Given the description of an element on the screen output the (x, y) to click on. 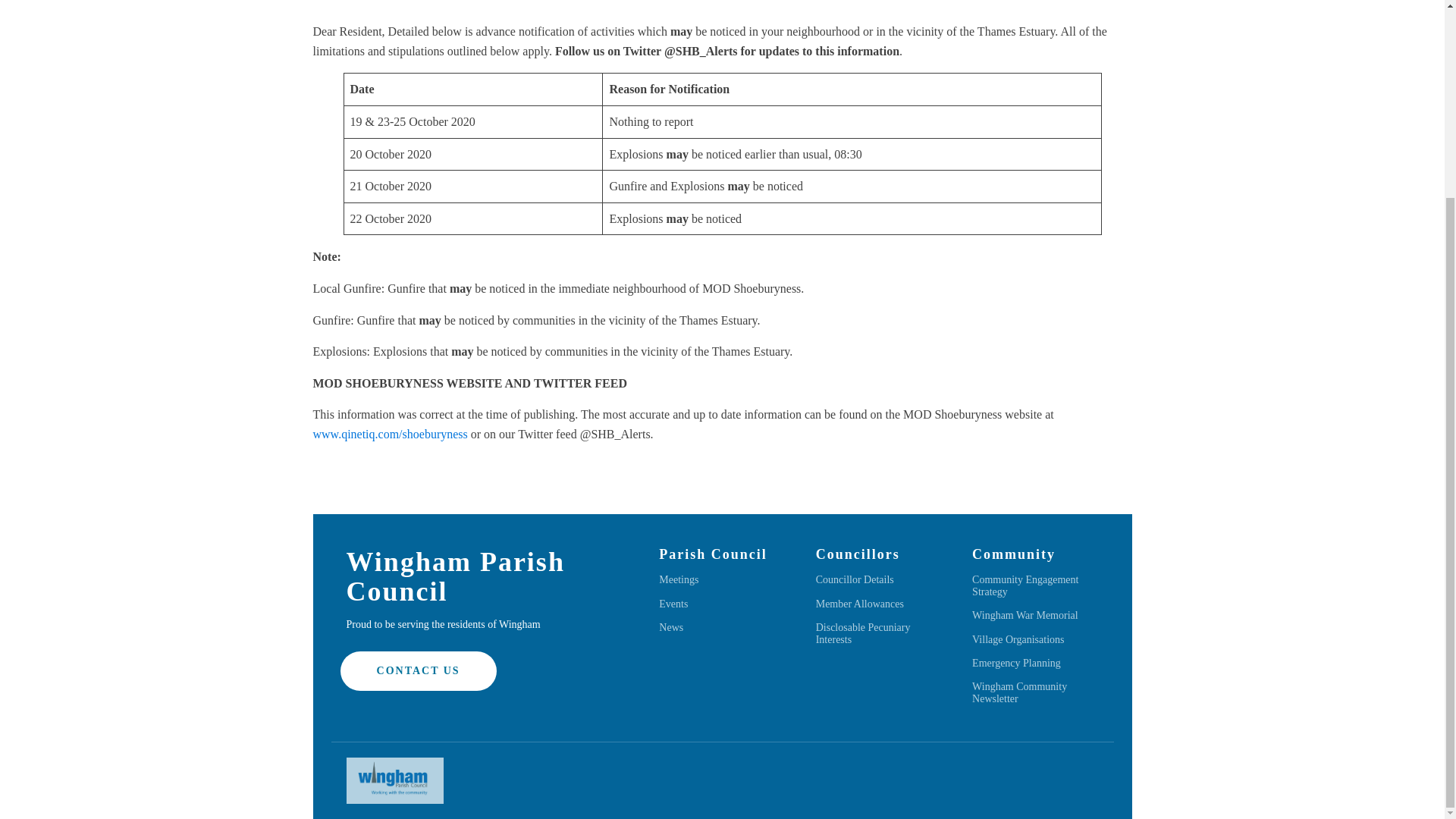
Councillor Details (854, 579)
Community Engagement Strategy (1034, 585)
Disclosable Pecuniary Interests (878, 633)
Events (673, 603)
News (670, 627)
Wingham War Memorial (1025, 614)
Member Allowances (859, 603)
CONTACT US (418, 670)
Wingham Community Newsletter (1034, 692)
Village Organisations (1018, 639)
Emergency Planning (1016, 663)
Meetings (678, 579)
